Given the description of an element on the screen output the (x, y) to click on. 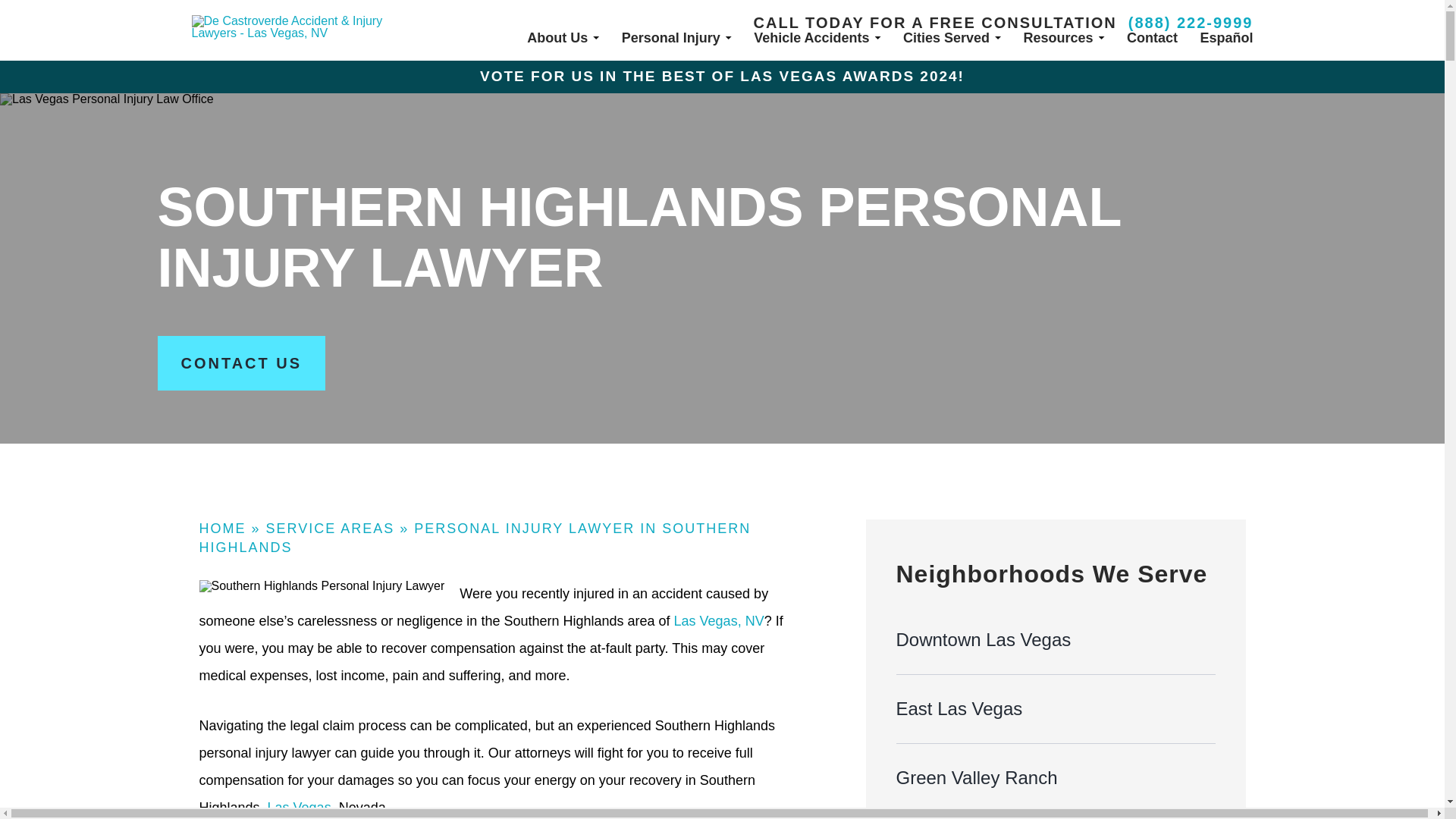
CONTACT US (241, 362)
Cities Served (951, 37)
Las Vegas, NV (719, 620)
Contact (1151, 37)
Vehicle Accidents (817, 37)
HOME (222, 528)
Personal Injury (676, 37)
Resources (1064, 37)
About Us (562, 37)
SERVICE AREAS (330, 528)
